Given the description of an element on the screen output the (x, y) to click on. 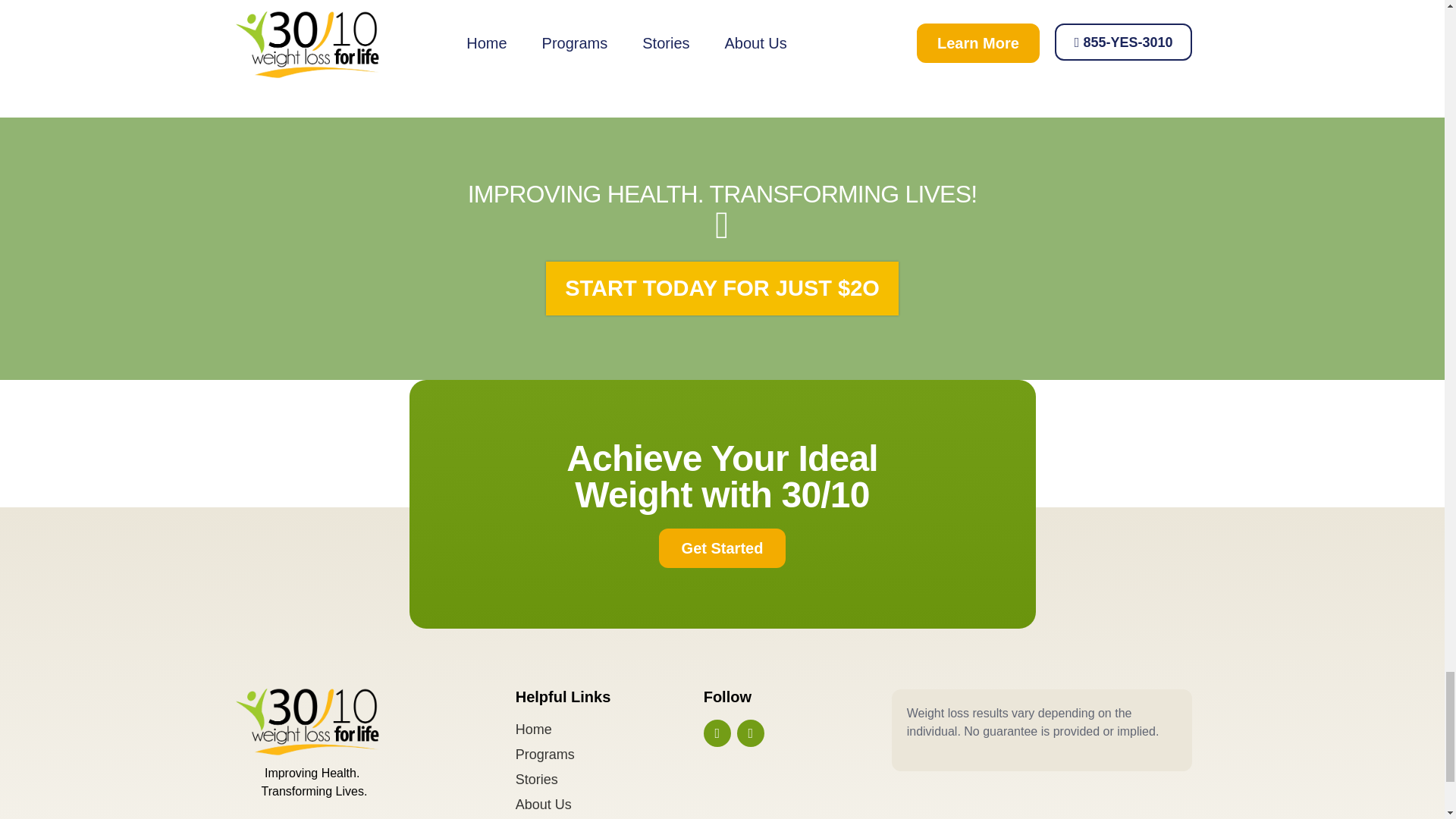
About Us (609, 804)
Stories (609, 779)
Programs (609, 754)
Home (609, 729)
Get Started (722, 548)
